Given the description of an element on the screen output the (x, y) to click on. 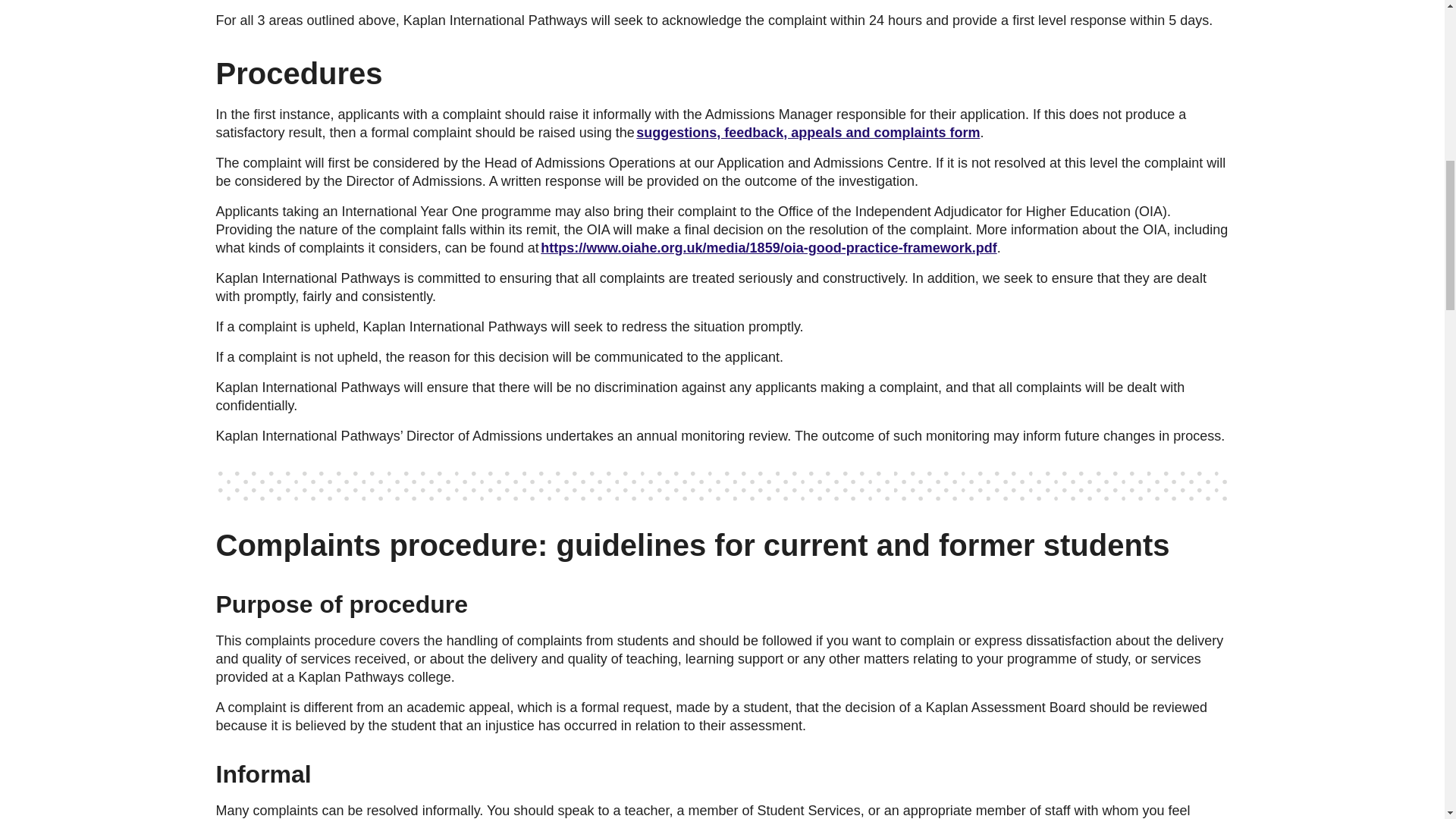
suggestions, feedback, appeals and complaints form (807, 132)
